Given the description of an element on the screen output the (x, y) to click on. 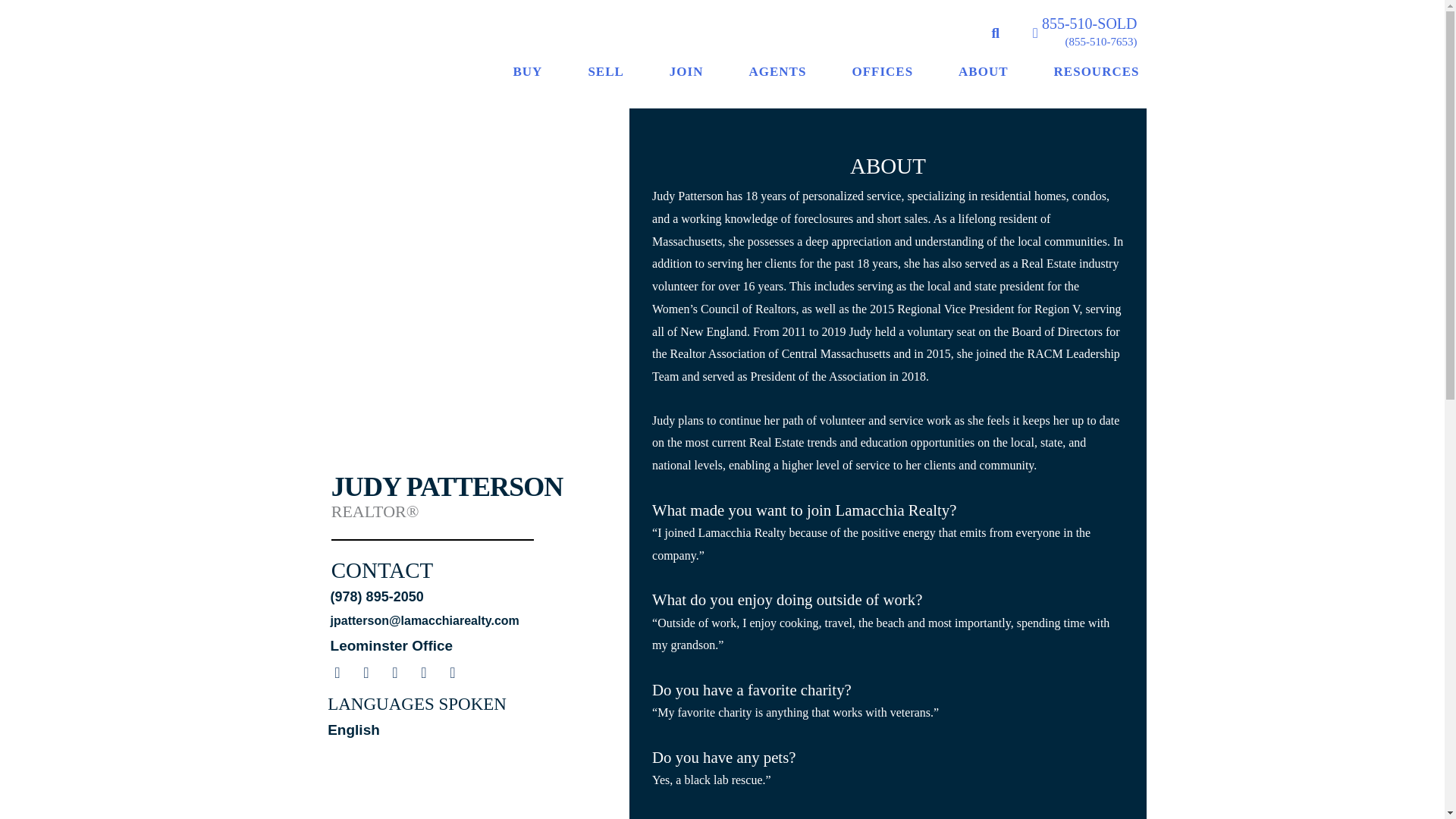
ABOUT (983, 71)
RESOURCES (1096, 71)
AGENTS (777, 71)
Twitter (366, 672)
BUY (527, 71)
Facebook (337, 672)
Linkedin (423, 672)
OFFICES (881, 71)
Globe (452, 672)
Instagram (395, 672)
